Given the description of an element on the screen output the (x, y) to click on. 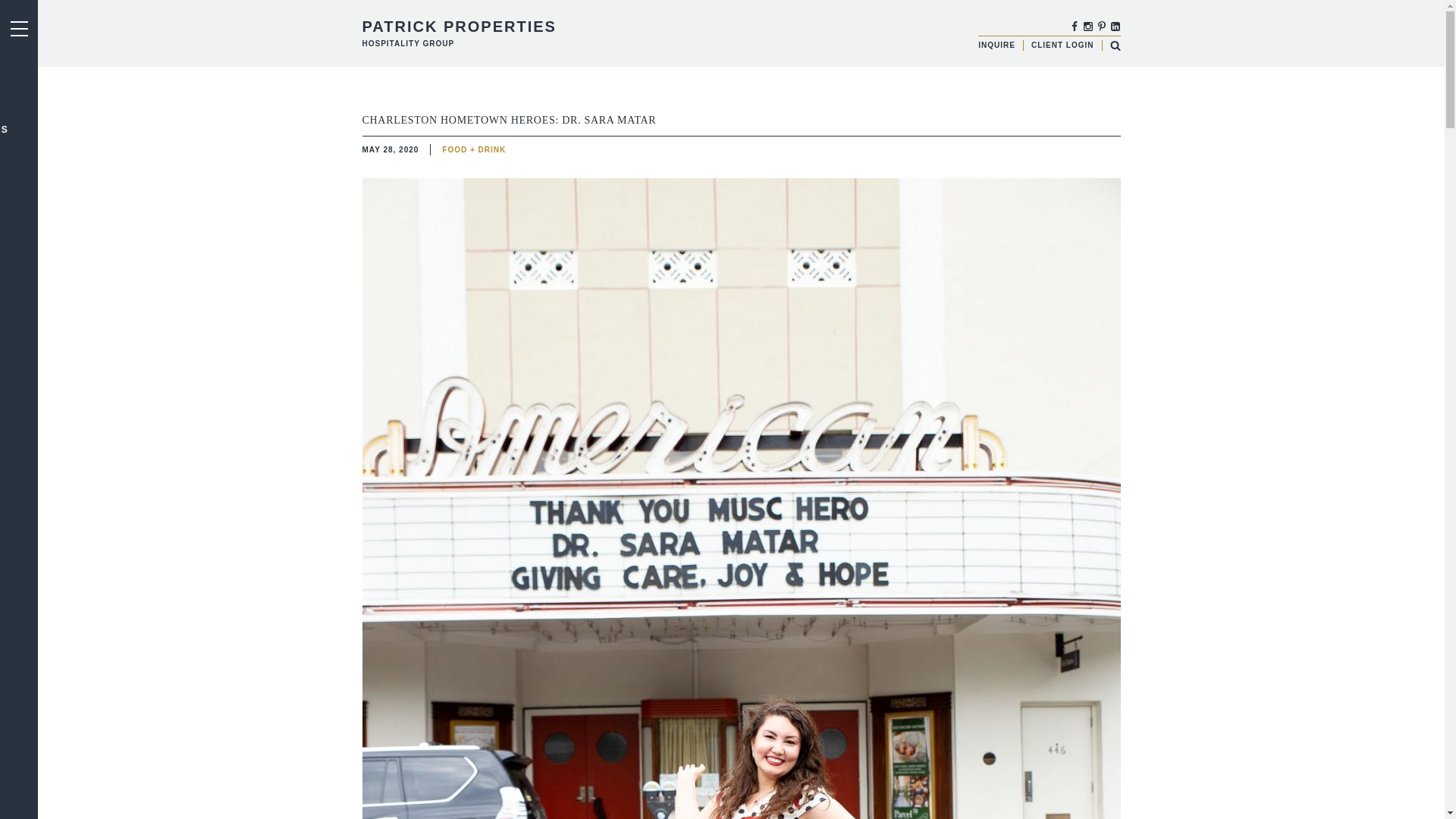
PATRICK PROPERTIES (459, 26)
CLIENT LOGIN (1062, 44)
INQUIRE (996, 44)
